Given the description of an element on the screen output the (x, y) to click on. 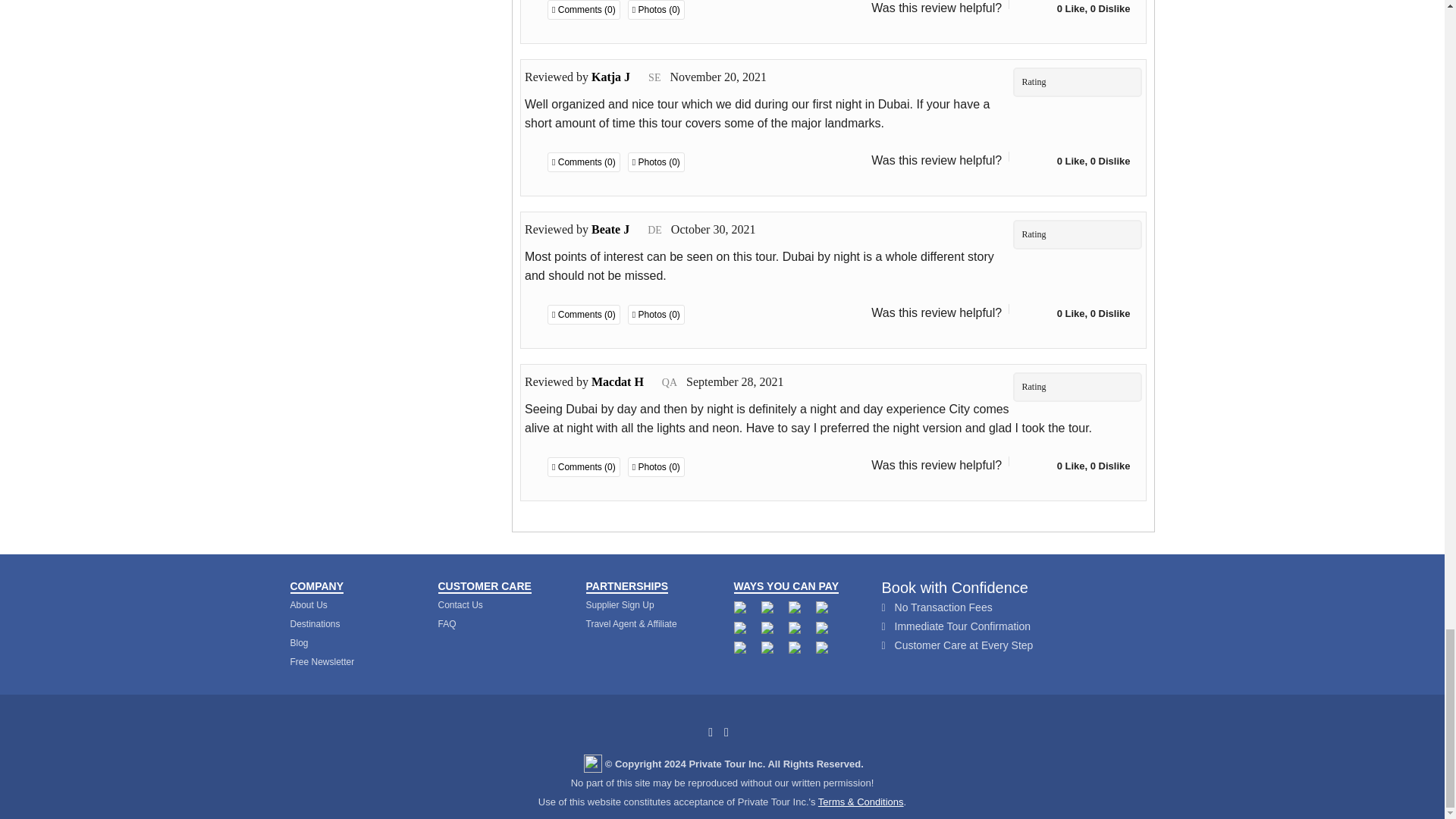
-1 (1039, 9)
-1 (1039, 161)
-1 (1039, 313)
-1 (1039, 466)
